Given the description of an element on the screen output the (x, y) to click on. 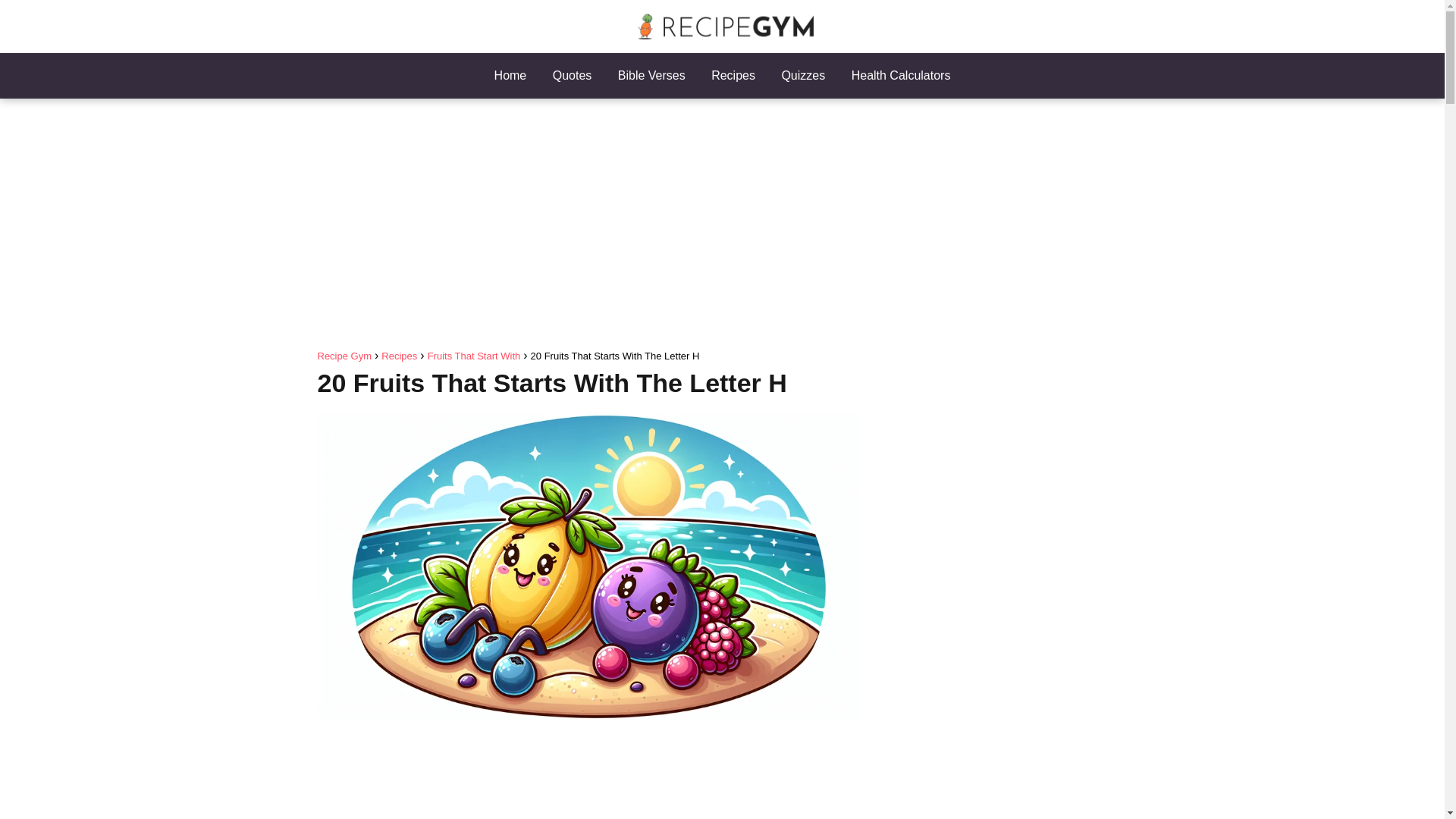
Home (511, 74)
Advertisement (588, 777)
Quotes (572, 74)
Recipe Gym (344, 355)
Health Calculators (900, 74)
Bible Verses (651, 74)
Quizzes (802, 74)
Recipes (733, 74)
Recipes (398, 355)
Fruits That Start With (474, 355)
